Given the description of an element on the screen output the (x, y) to click on. 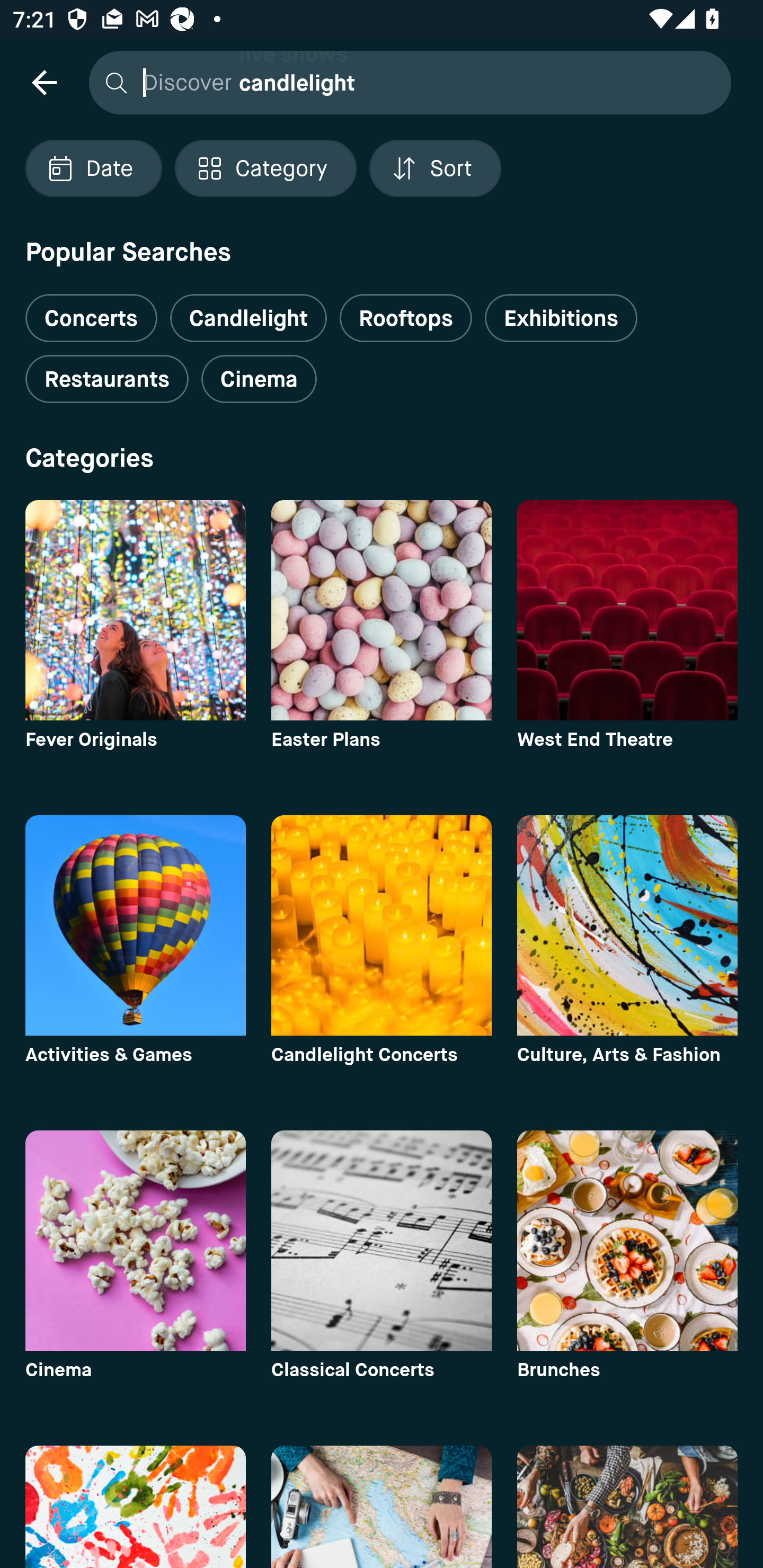
navigation icon (44, 81)
Discover live shows candlelight (405, 81)
Localized description Date (93, 168)
Localized description Category (265, 168)
Localized description Sort (435, 168)
Concerts (91, 310)
Candlelight (248, 317)
Rooftops (405, 317)
Exhibitions (560, 317)
Restaurants (106, 379)
Cinema (258, 379)
category image (135, 609)
category image (381, 609)
category image (627, 609)
category image (135, 924)
category image (381, 924)
category image (627, 924)
category image (135, 1240)
category image (381, 1240)
category image (627, 1240)
category image (135, 1506)
category image (381, 1506)
category image (627, 1506)
